Given the description of an element on the screen output the (x, y) to click on. 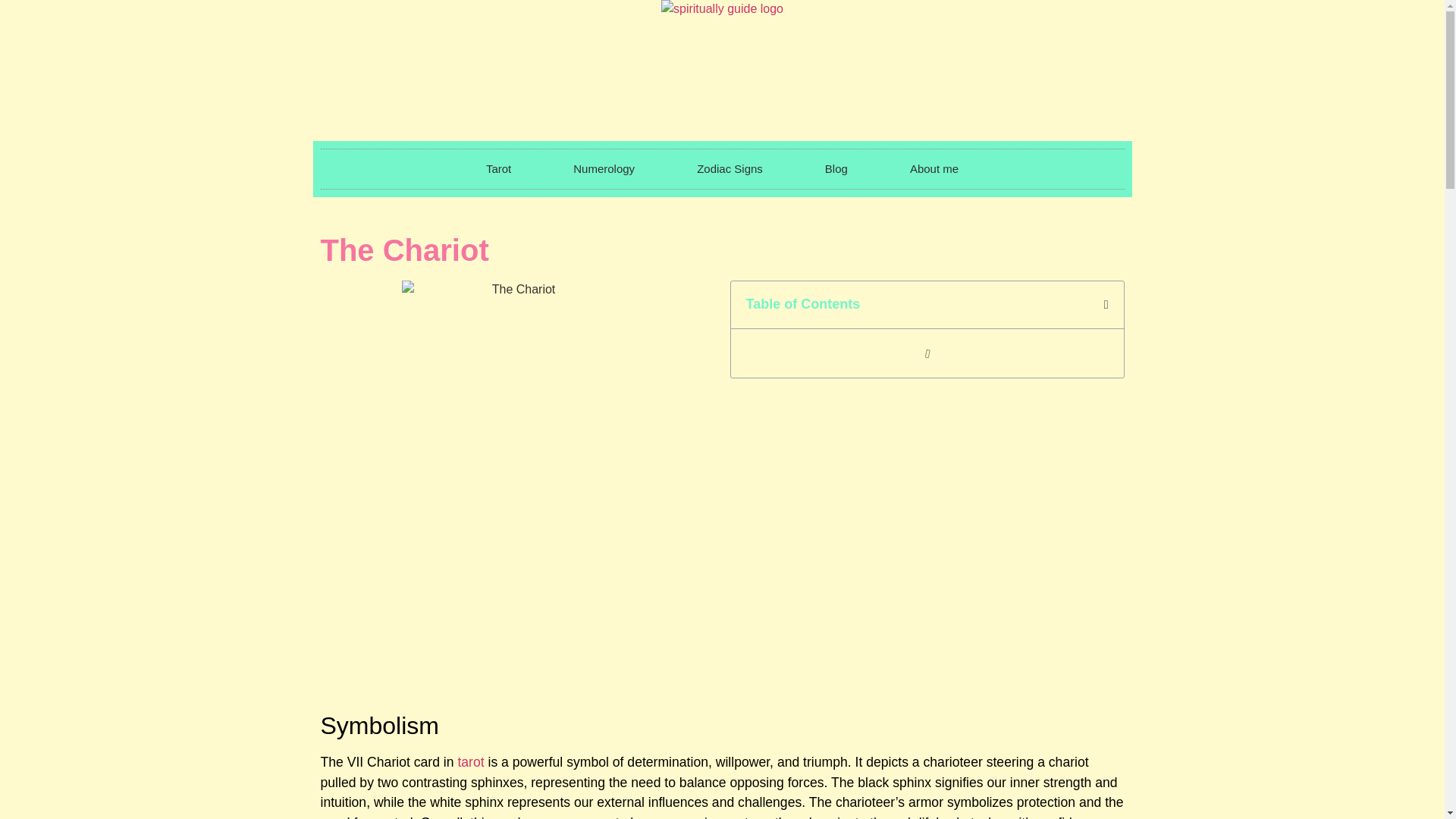
Numerology (603, 169)
tarot (470, 761)
Tarot (497, 169)
Zodiac Signs (729, 169)
About me (934, 169)
Blog (836, 169)
